Given the description of an element on the screen output the (x, y) to click on. 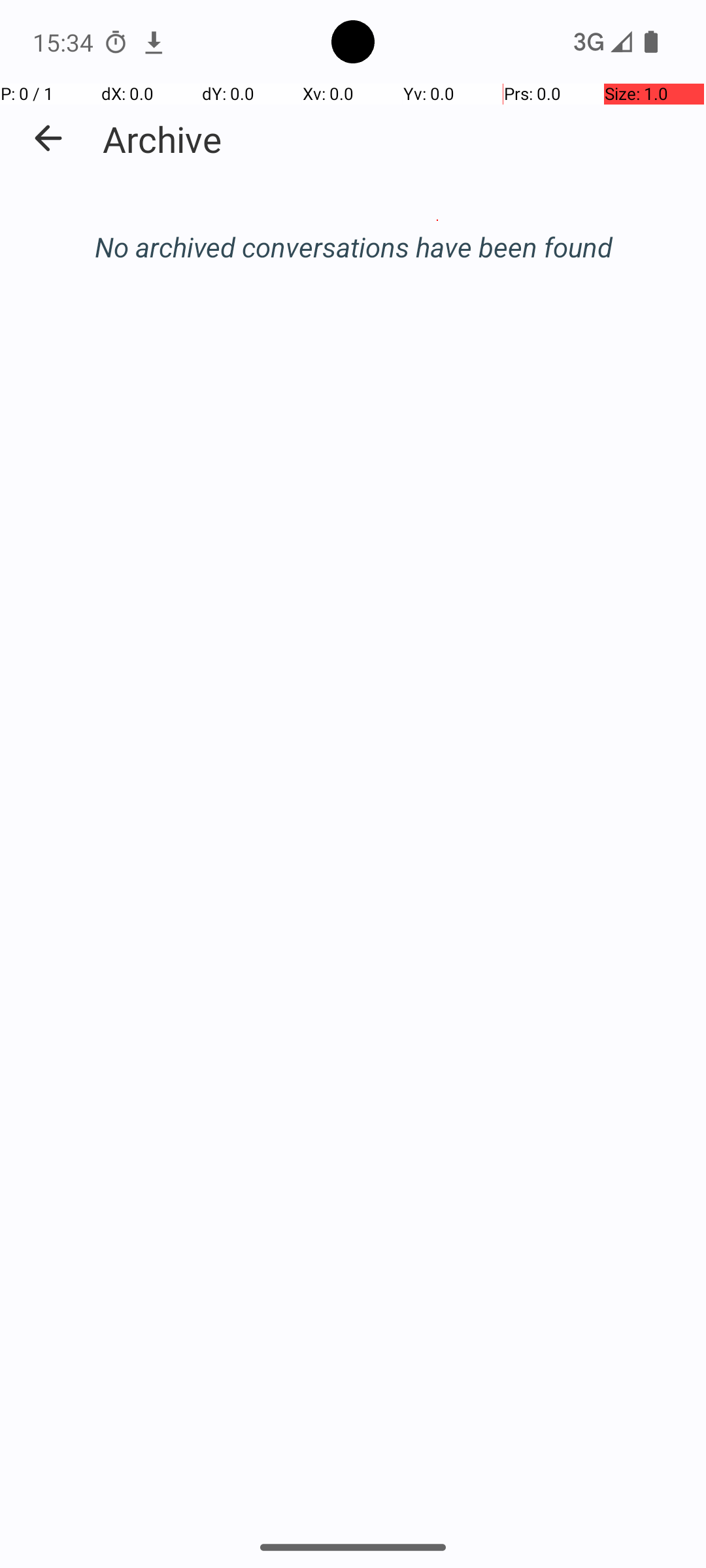
No archived conversations have been found Element type: android.widget.TextView (353, 246)
